Given the description of an element on the screen output the (x, y) to click on. 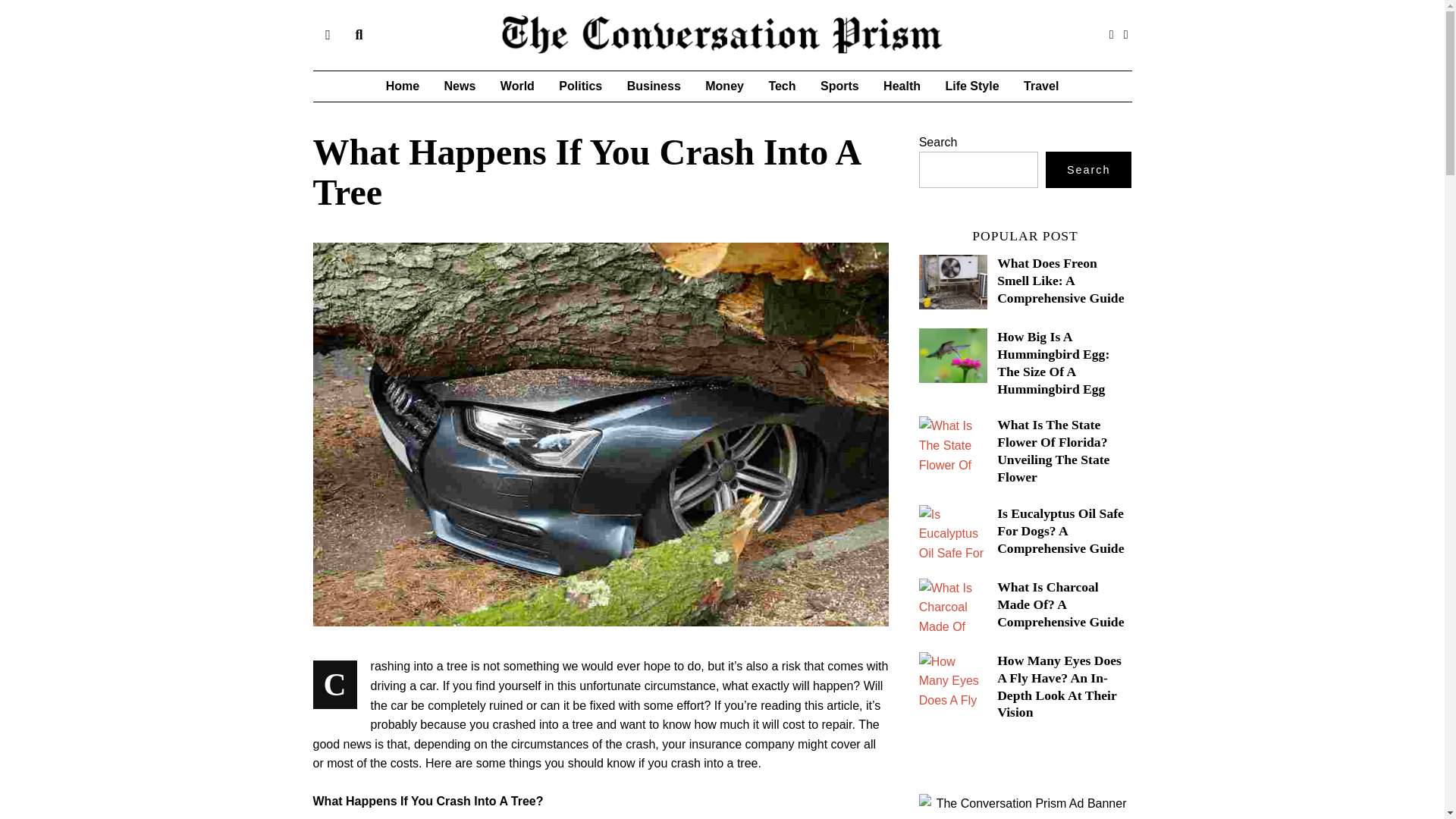
Politics (580, 86)
What Is Charcoal Made Of? A Comprehensive Guide  (1061, 604)
How Big Is A Hummingbird Egg: The Size Of A Hummingbird Egg (1053, 362)
Is Eucalyptus Oil Safe For Dogs? A Comprehensive Guide  (1061, 531)
Search (1088, 169)
Sports (839, 86)
Travel (1040, 86)
Money (724, 86)
Life Style (971, 86)
